Given the description of an element on the screen output the (x, y) to click on. 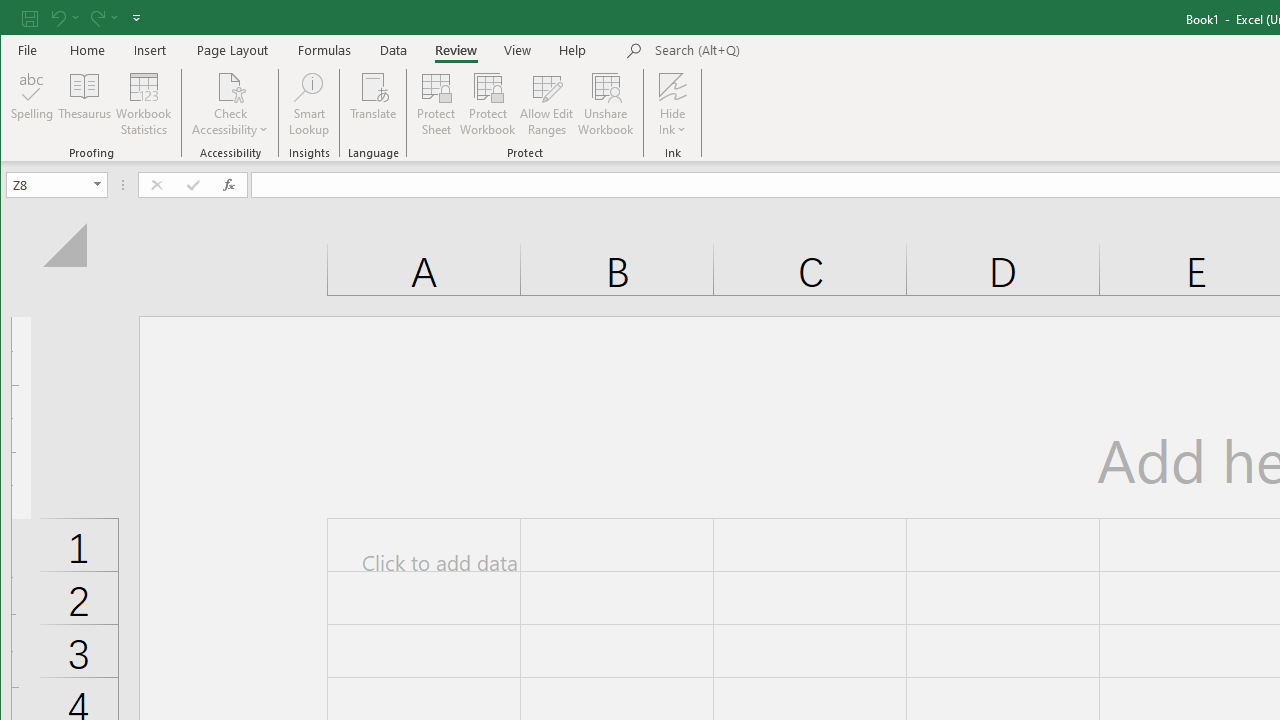
Check Accessibility (230, 104)
